Given the description of an element on the screen output the (x, y) to click on. 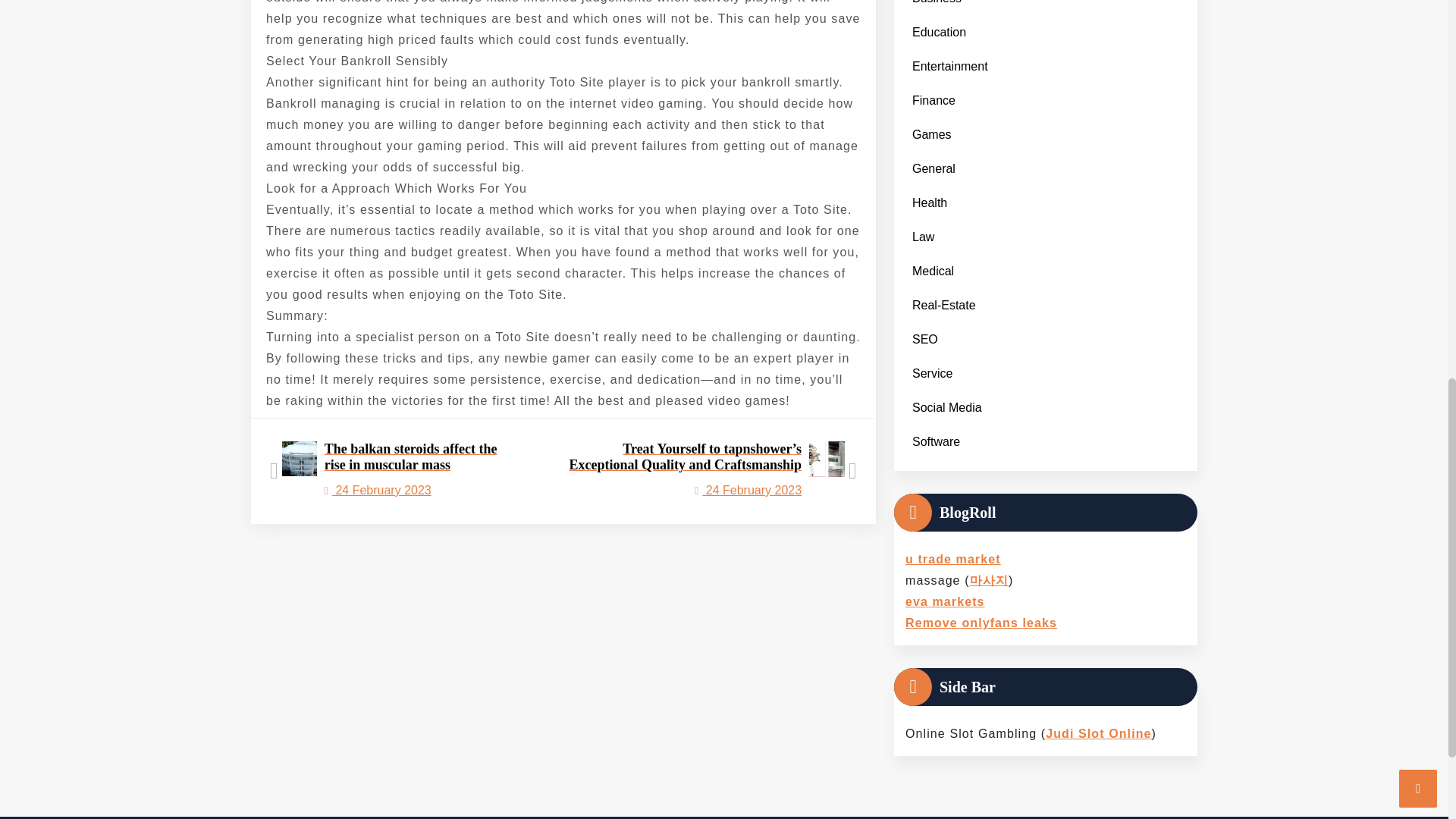
Health (929, 202)
Entertainment (949, 66)
Games (931, 134)
Education (938, 31)
Business (935, 5)
Finance (933, 99)
General (933, 168)
